Given the description of an element on the screen output the (x, y) to click on. 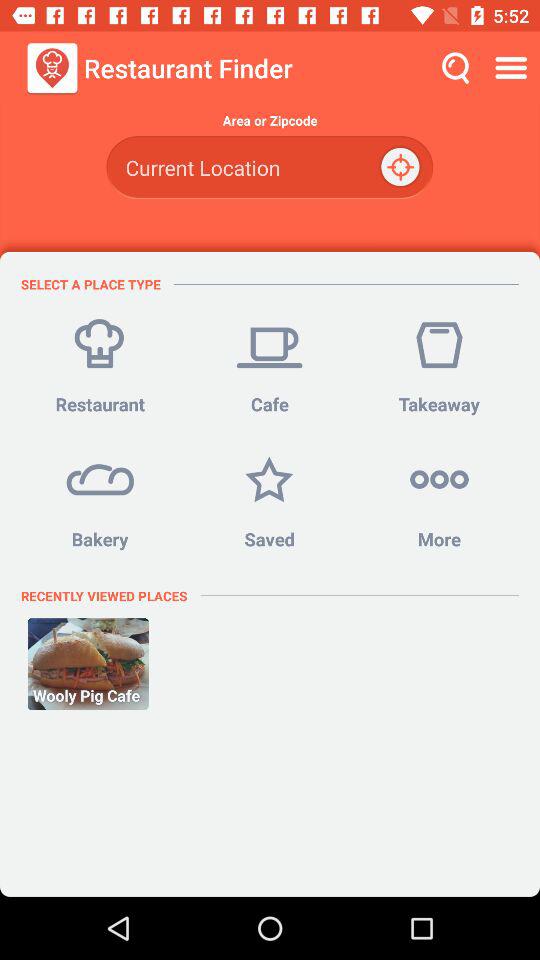
select icon above area or zipcode item (513, 67)
